Given the description of an element on the screen output the (x, y) to click on. 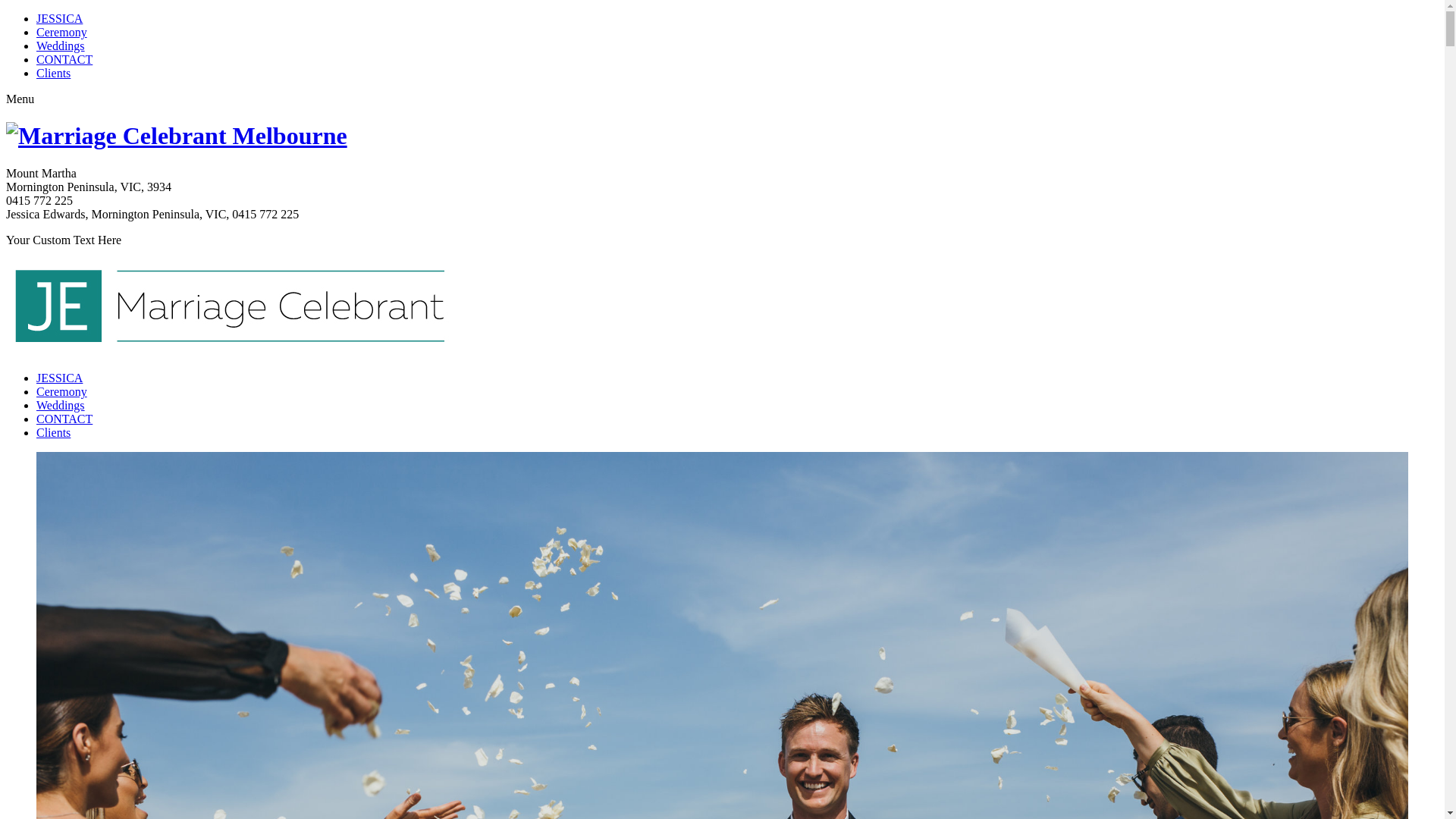
CONTACT Element type: text (64, 418)
Ceremony Element type: text (61, 31)
Weddings Element type: text (60, 45)
Menu Element type: text (20, 98)
JESSICA Element type: text (59, 377)
Weddings Element type: text (60, 404)
Clients Element type: text (53, 72)
JESSICA Element type: text (59, 18)
Ceremony Element type: text (61, 391)
Clients Element type: text (53, 432)
CONTACT Element type: text (64, 59)
